Given the description of an element on the screen output the (x, y) to click on. 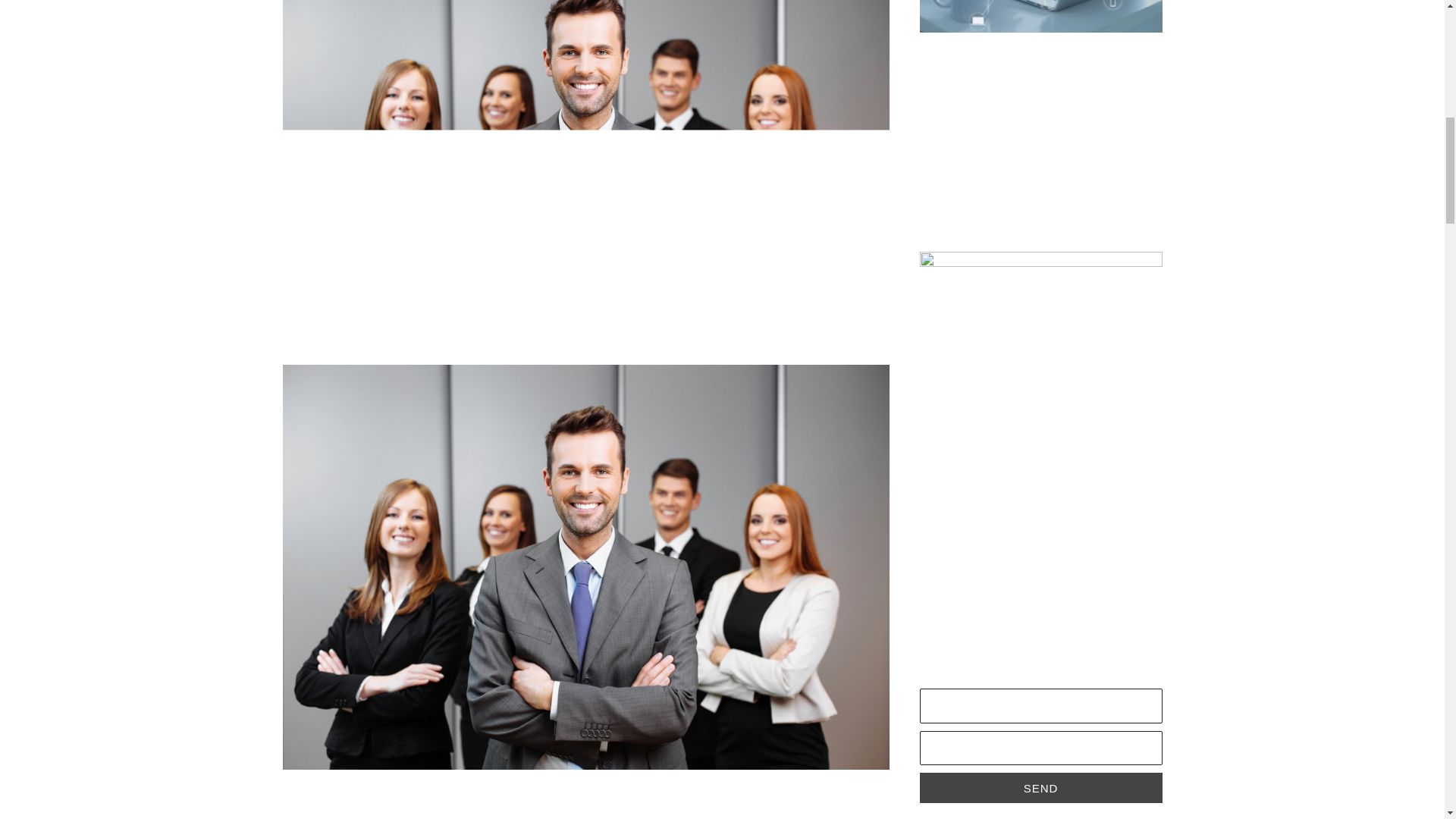
How Does Fiber Internet Work? (1024, 216)
SEND (1039, 788)
